Given the description of an element on the screen output the (x, y) to click on. 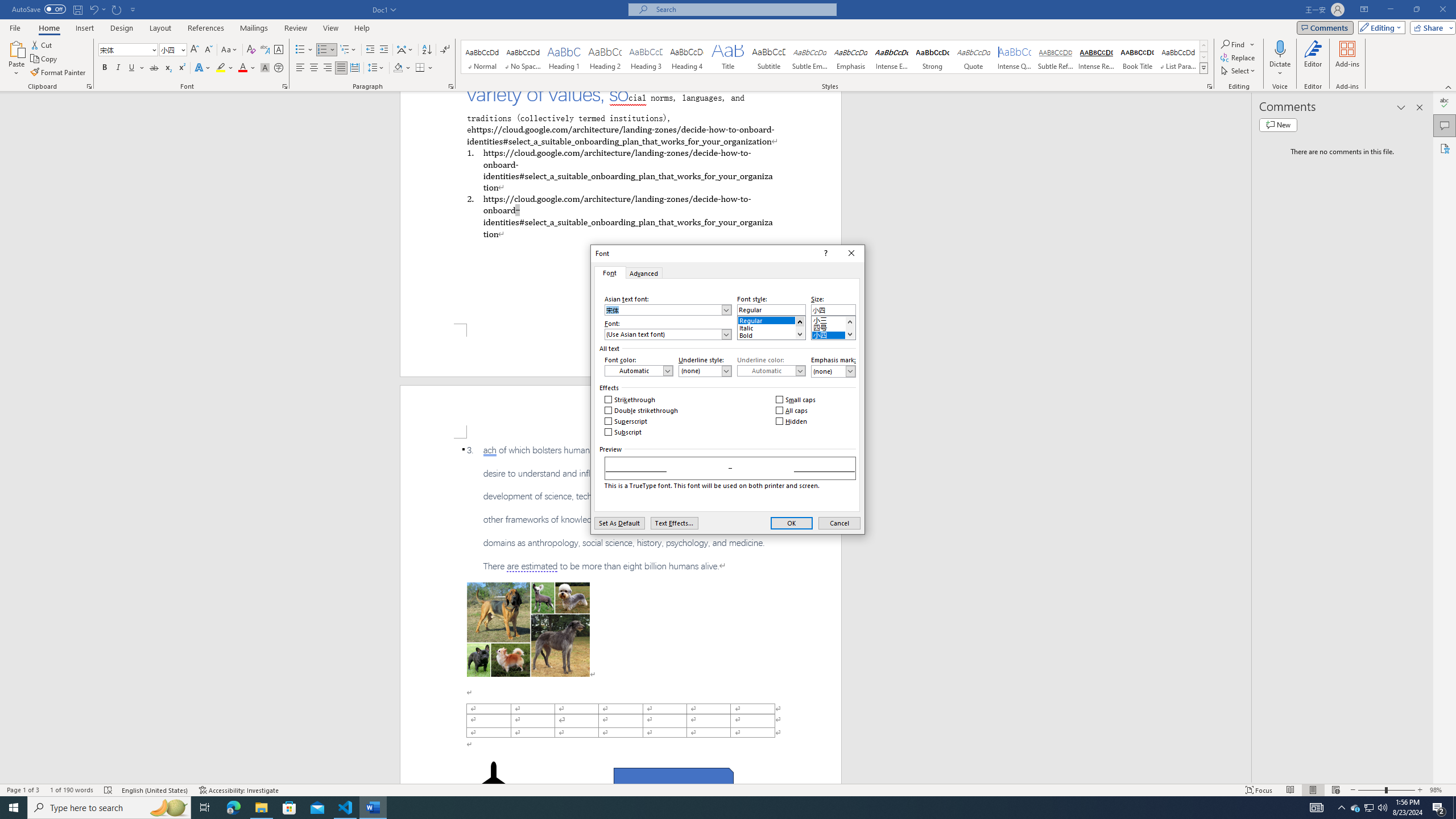
Office Clipboard... (88, 85)
Underline Color (Automatic) (771, 370)
Undo Apply Quick Style (92, 9)
Hidden (792, 420)
2. (620, 216)
Subscript (167, 67)
Font: (668, 333)
Heading 1 (564, 56)
